Given the description of an element on the screen output the (x, y) to click on. 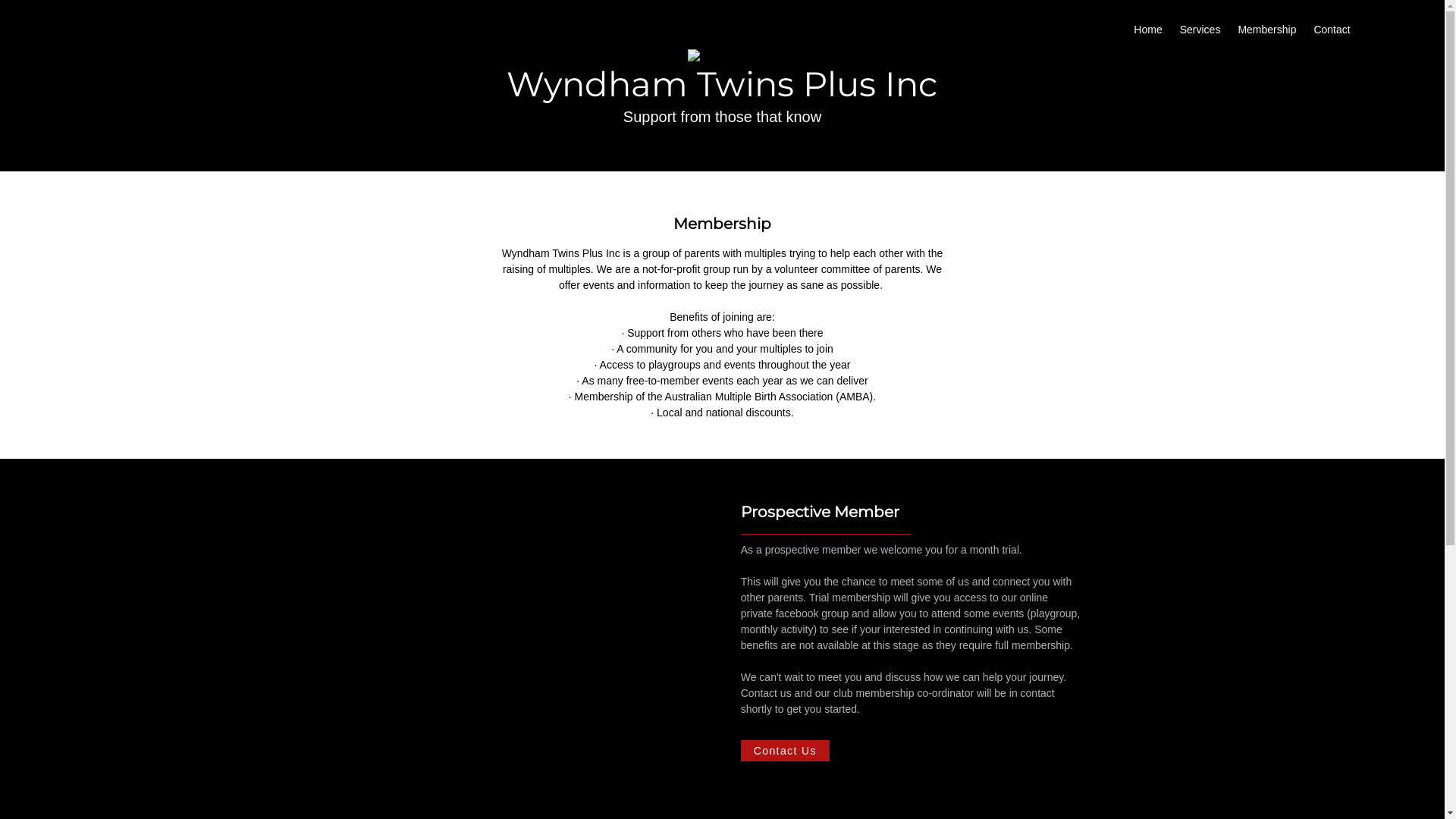
Contact Element type: text (1331, 30)
Membership Element type: text (1266, 30)
Services Element type: text (1200, 30)
Home Element type: text (1147, 30)
